Given the description of an element on the screen output the (x, y) to click on. 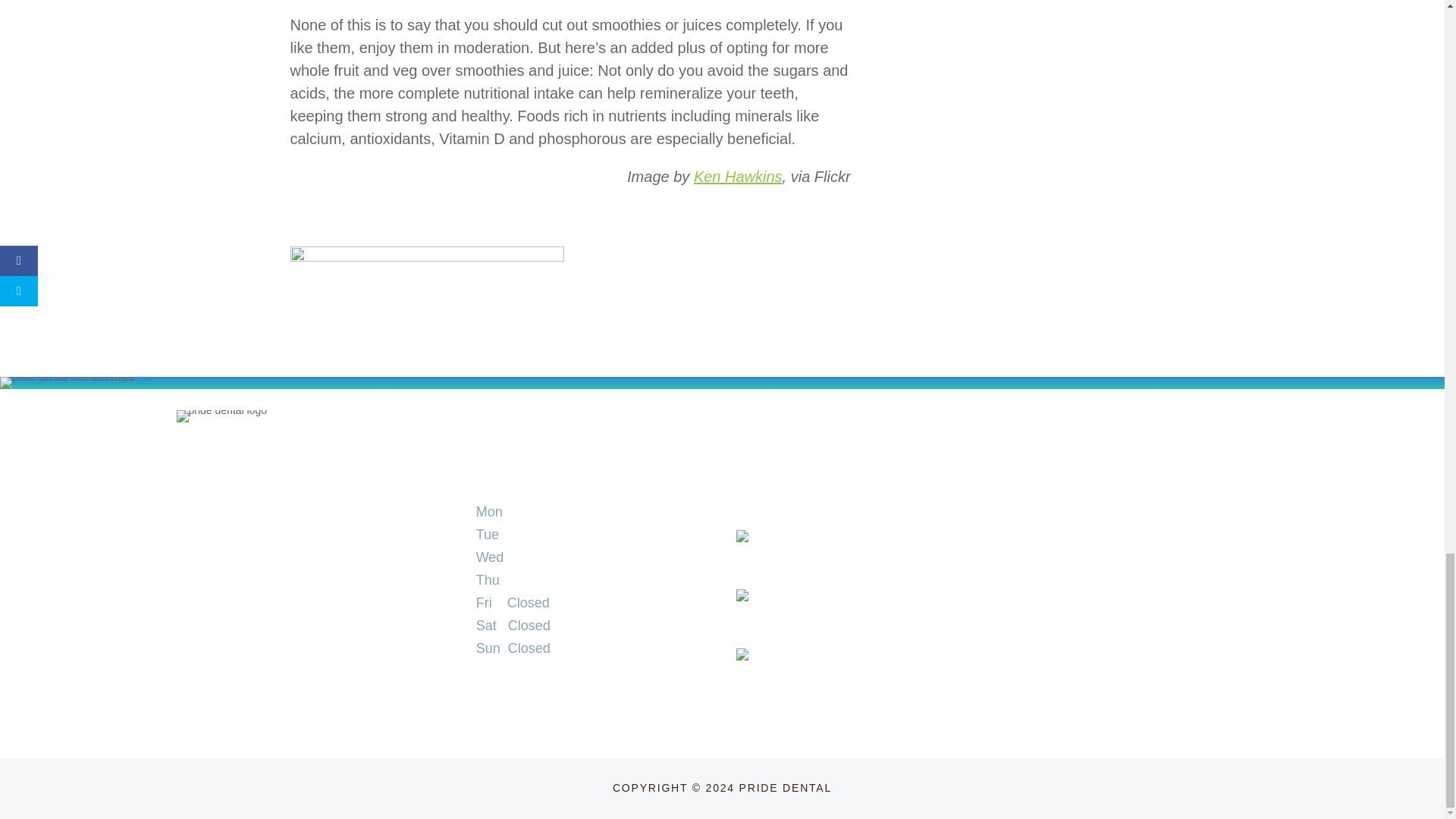
flower left blog (426, 374)
footer logo (221, 416)
pride-dental-memberships (66, 382)
